Given the description of an element on the screen output the (x, y) to click on. 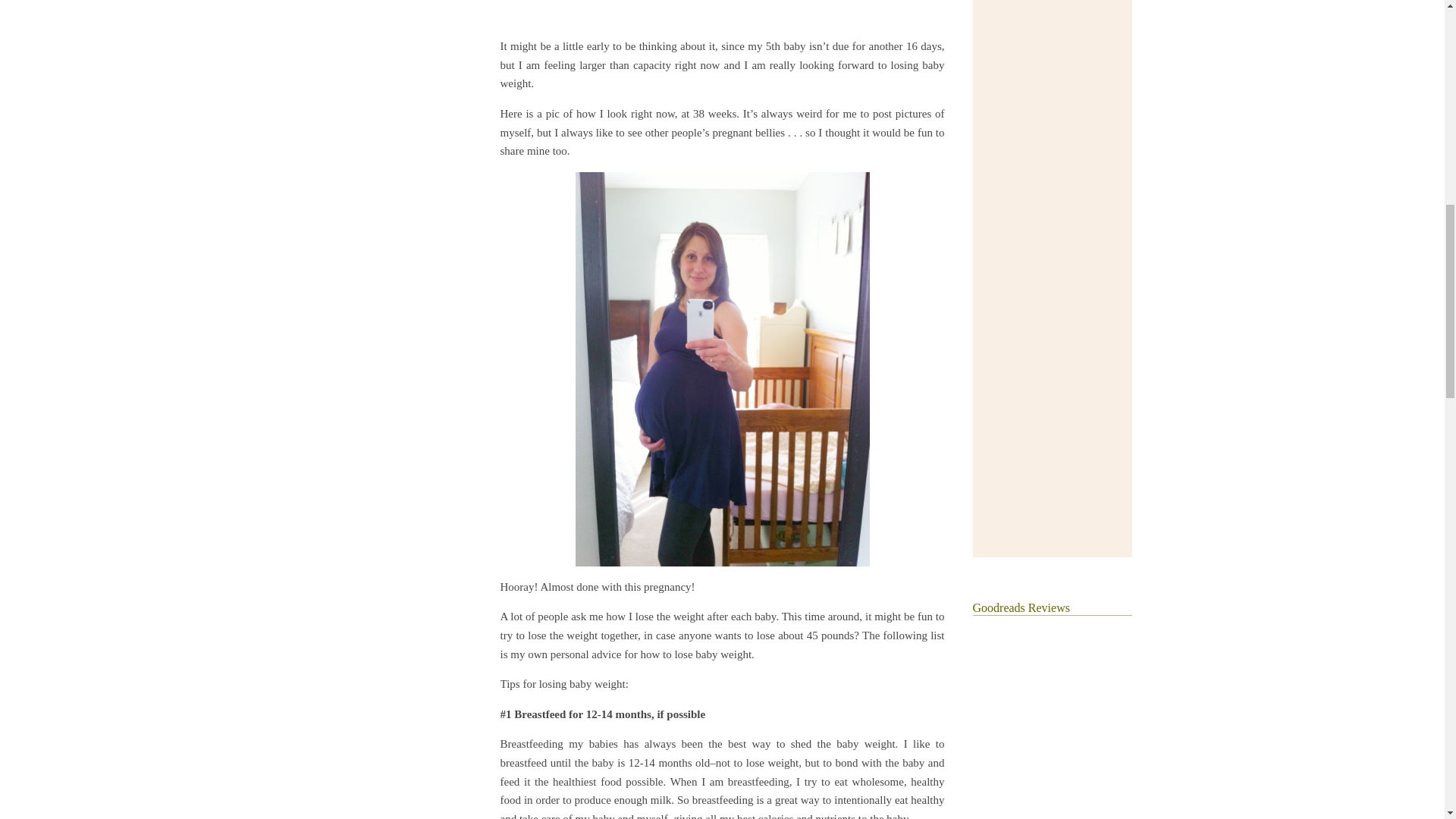
Goodreads Reviews (1020, 607)
